Given the description of an element on the screen output the (x, y) to click on. 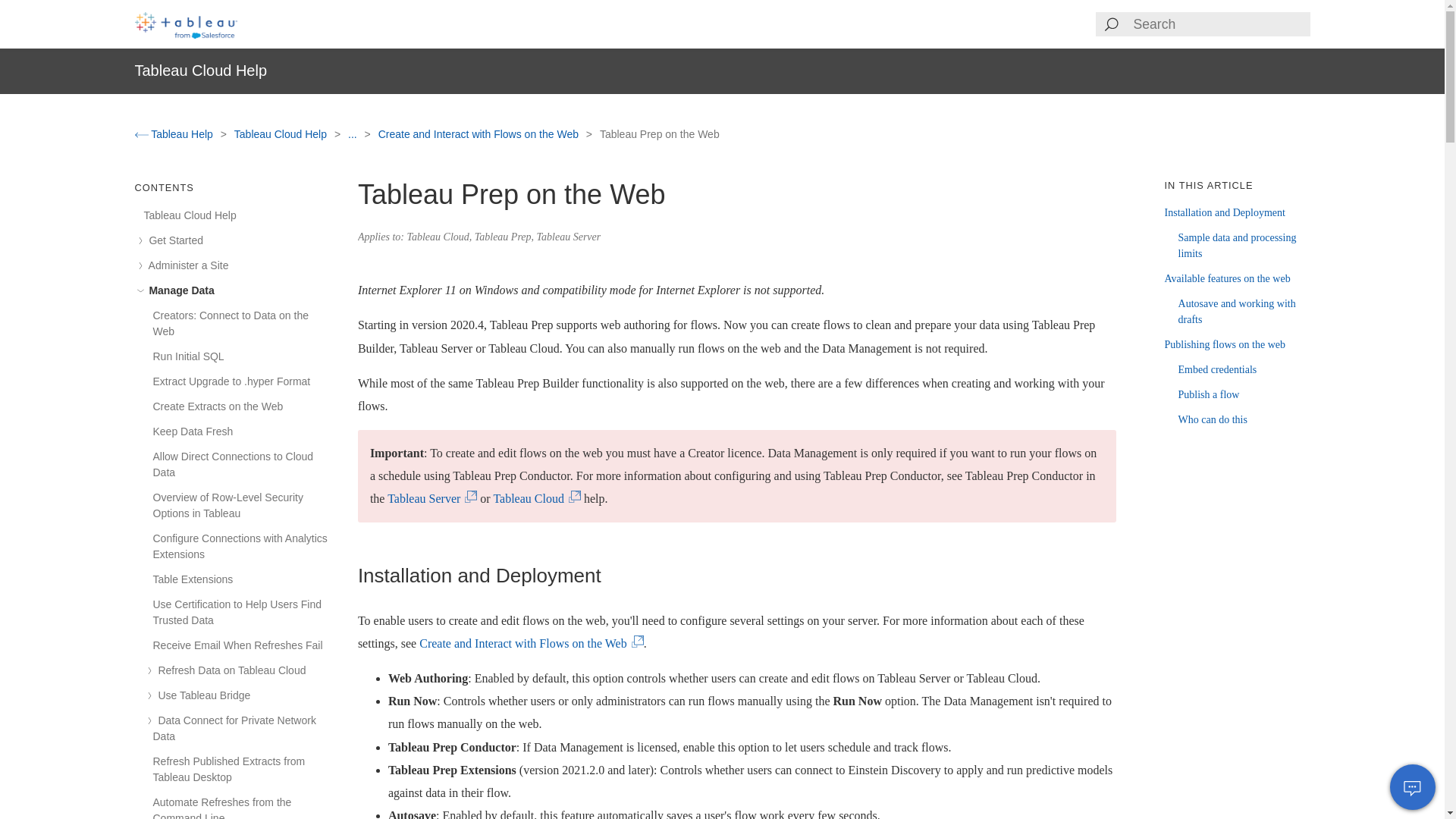
Create and Interact with Flows on the Web (479, 133)
Get Started (173, 240)
Tableau Prep on the Web (659, 133)
Tableau Cloud Help (189, 215)
Tableau Cloud Help (282, 133)
Tableau Help (175, 133)
Administer a Site (186, 265)
... (353, 133)
